Given the description of an element on the screen output the (x, y) to click on. 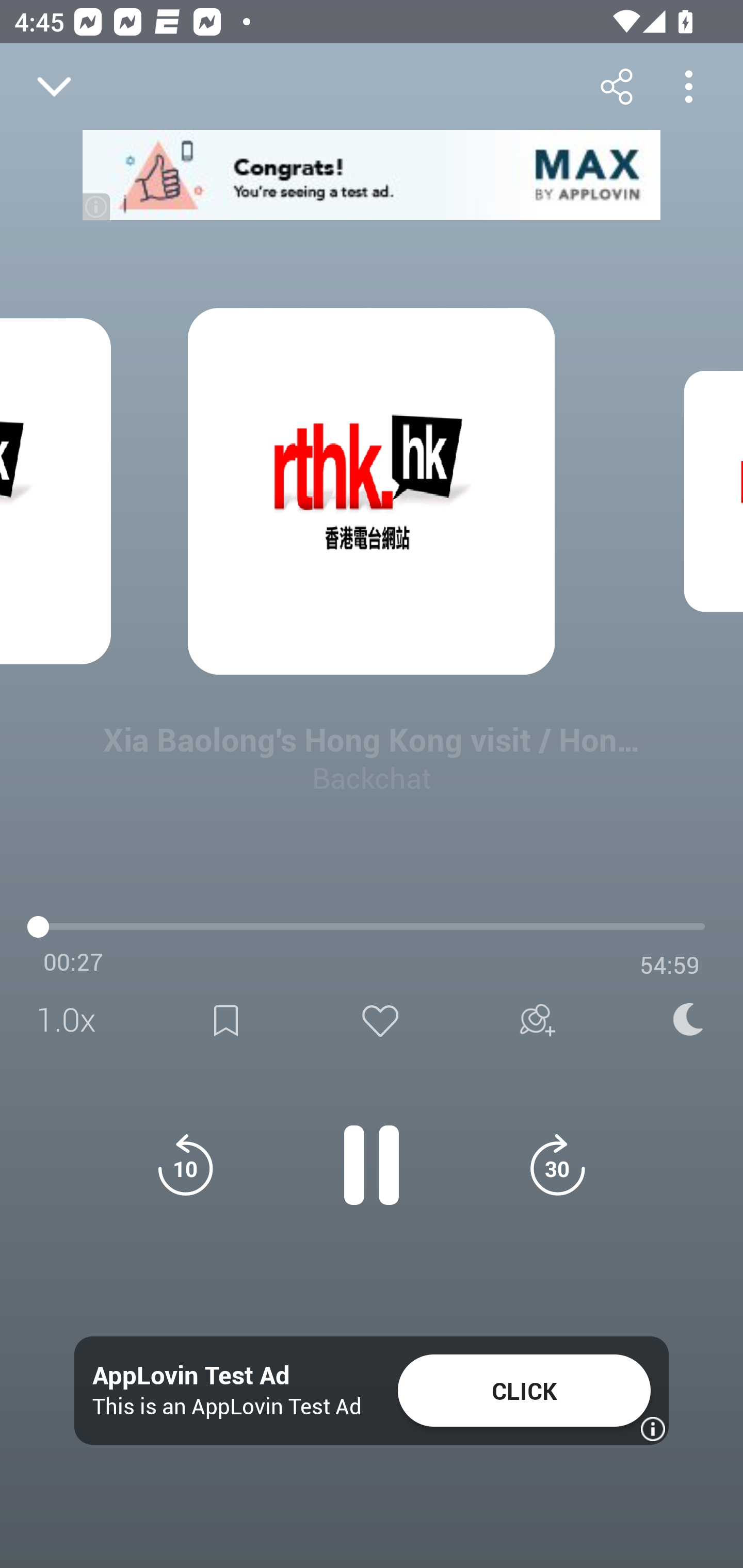
Close fullscreen player (54, 86)
Share (616, 86)
More options (688, 86)
app-monetization (371, 175)
(i) (96, 206)
Backchat (371, 776)
Open series Backchat (93, 994)
54:59 (669, 964)
1.0x Speed (72, 1020)
Like (380, 1020)
Pause button (371, 1153)
Jump back (185, 1164)
Jump forward (557, 1164)
CLICK (523, 1390)
AppLovin Test Ad (191, 1375)
This is an AppLovin Test Ad (226, 1406)
